Given the description of an element on the screen output the (x, y) to click on. 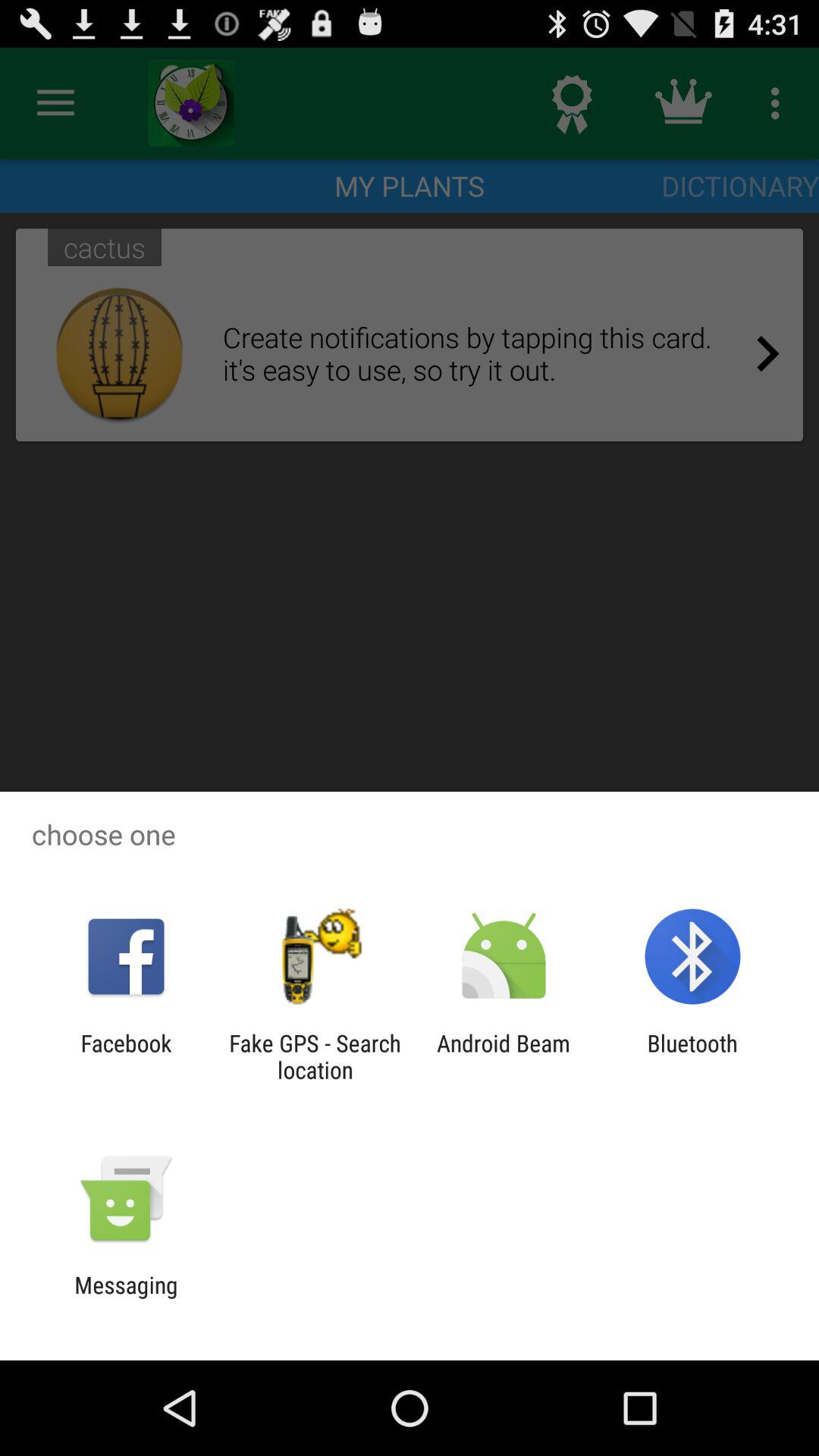
open item to the right of android beam icon (692, 1056)
